Given the description of an element on the screen output the (x, y) to click on. 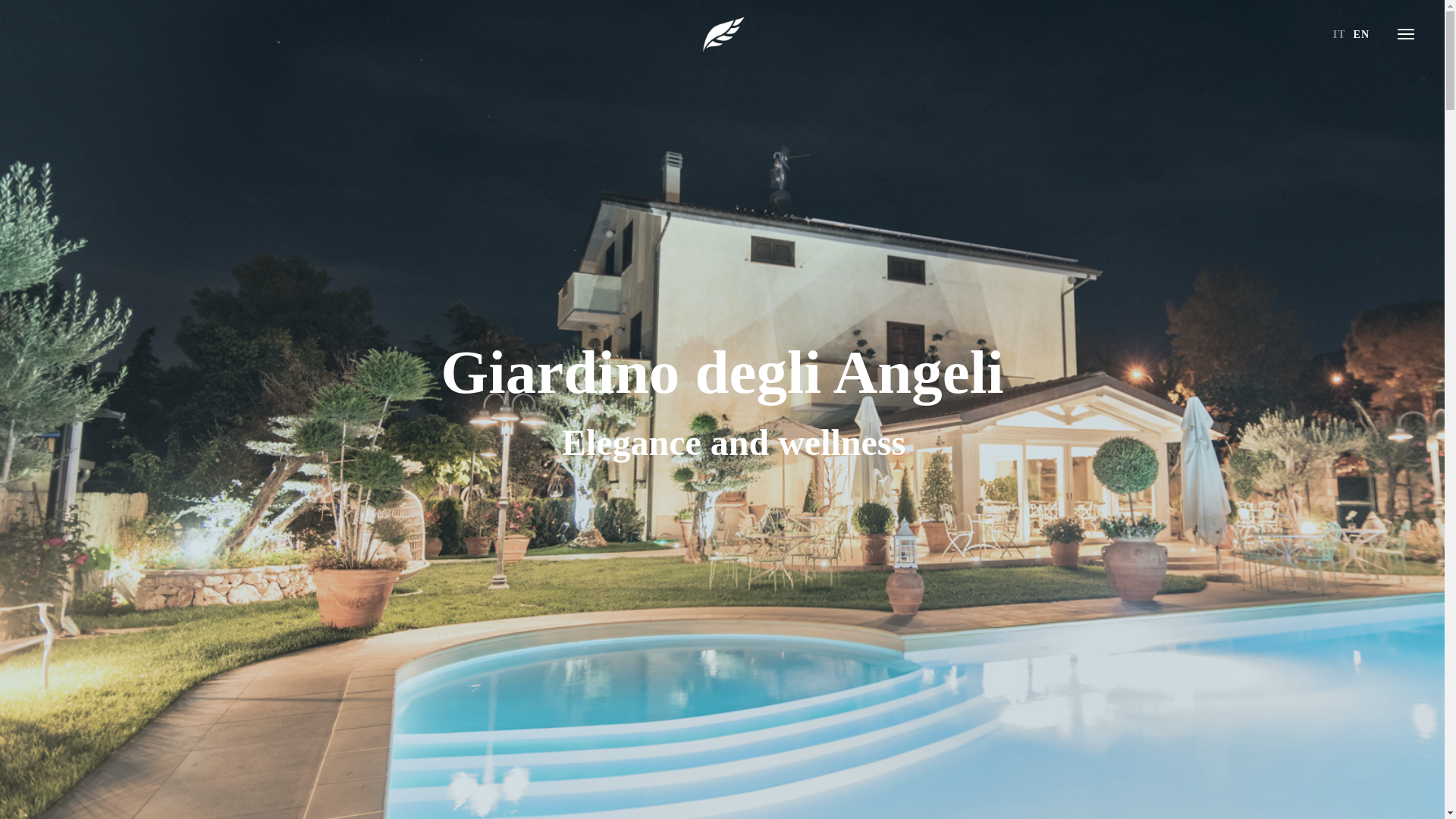
EN (1362, 34)
Elegance (631, 442)
wellness (841, 442)
IL GIARDINO DEGLI ANGELI ASSISI (721, 33)
IT (1339, 34)
